Given the description of an element on the screen output the (x, y) to click on. 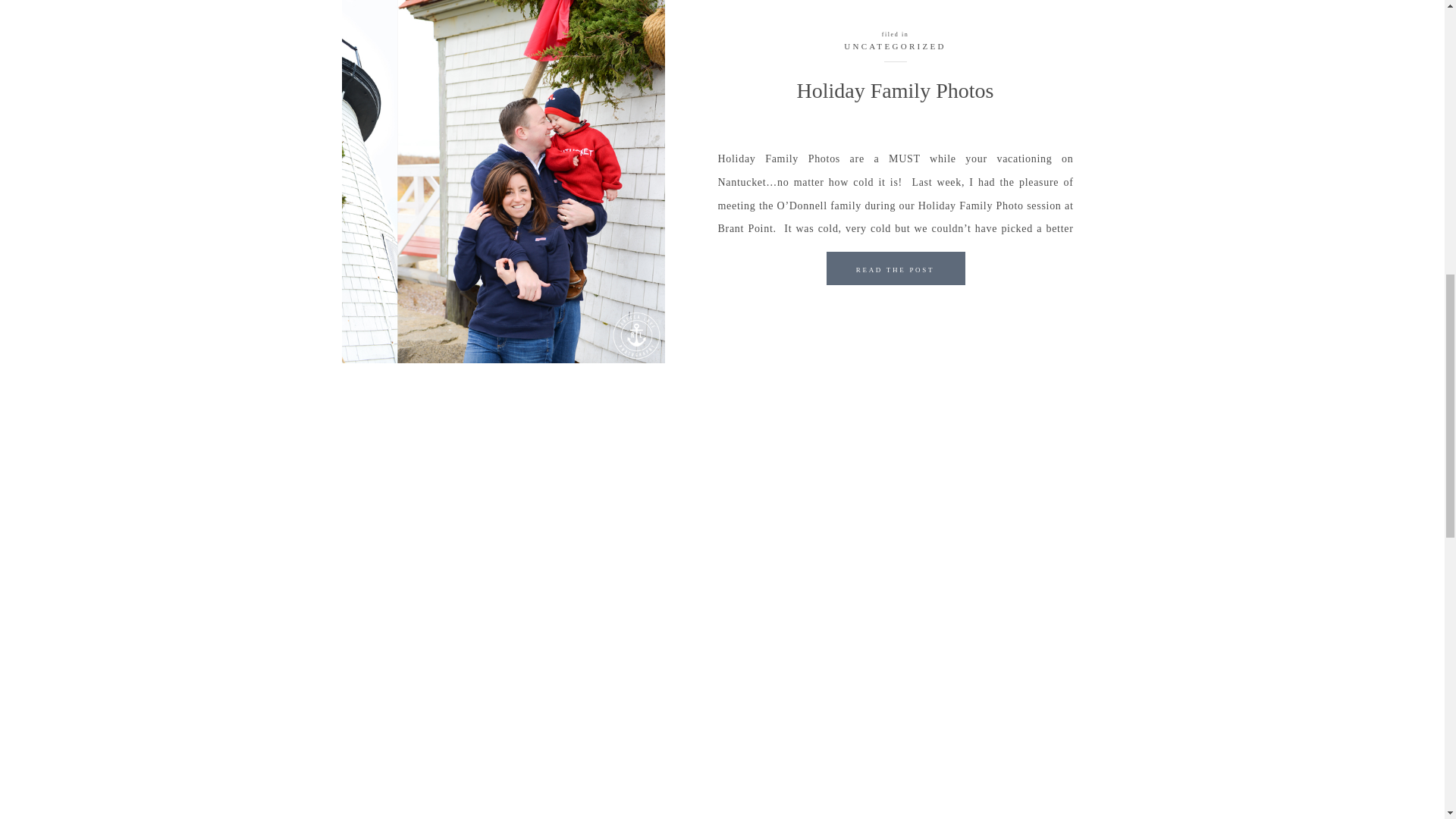
READ THE POST (895, 272)
Holiday Family Photos (896, 268)
Holiday Family Photos (895, 90)
Holiday Family Photos (501, 181)
Holiday Family Photos (895, 272)
UNCATEGORIZED (895, 45)
